Given the description of an element on the screen output the (x, y) to click on. 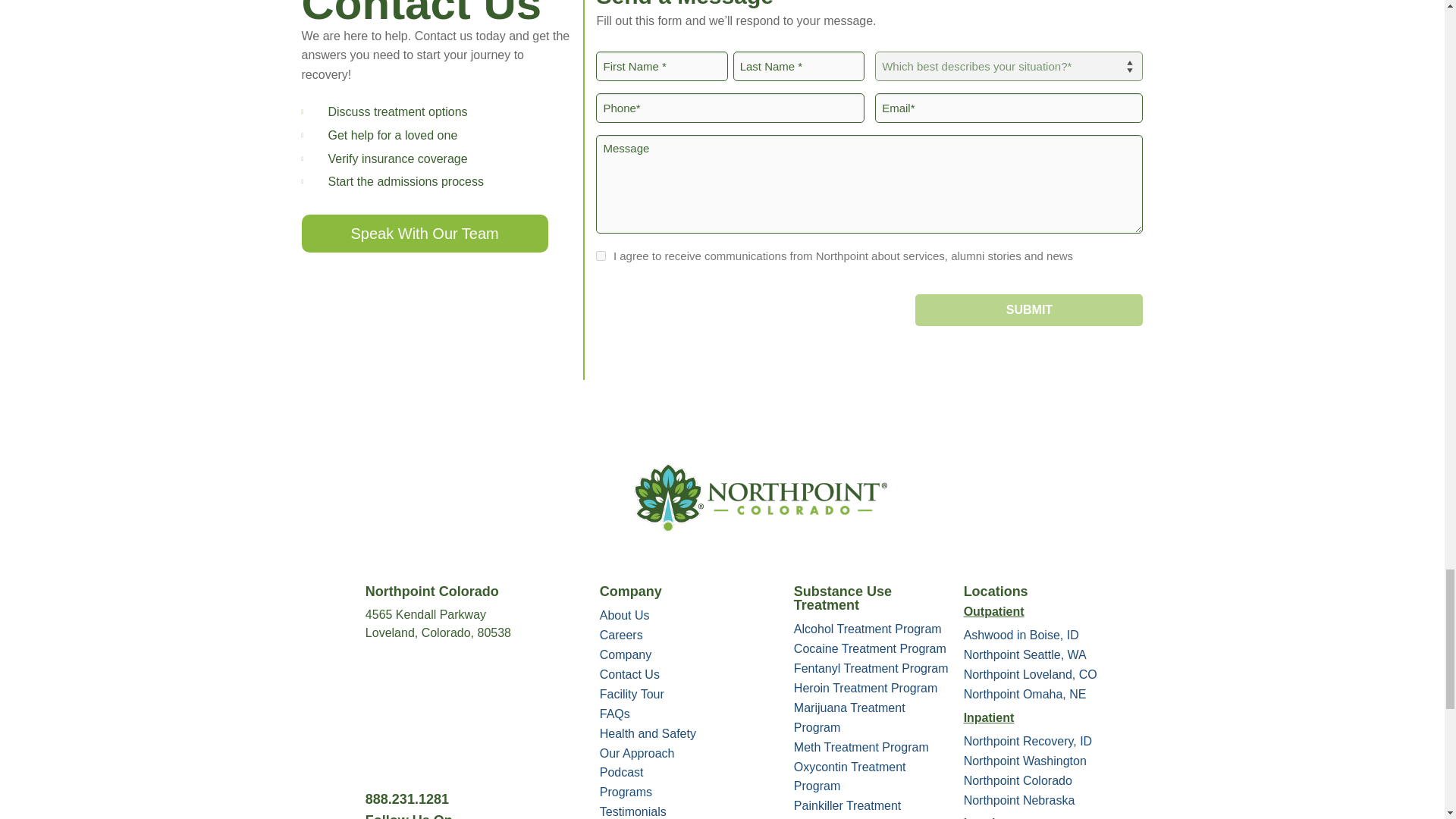
Submit (1028, 309)
